Given the description of an element on the screen output the (x, y) to click on. 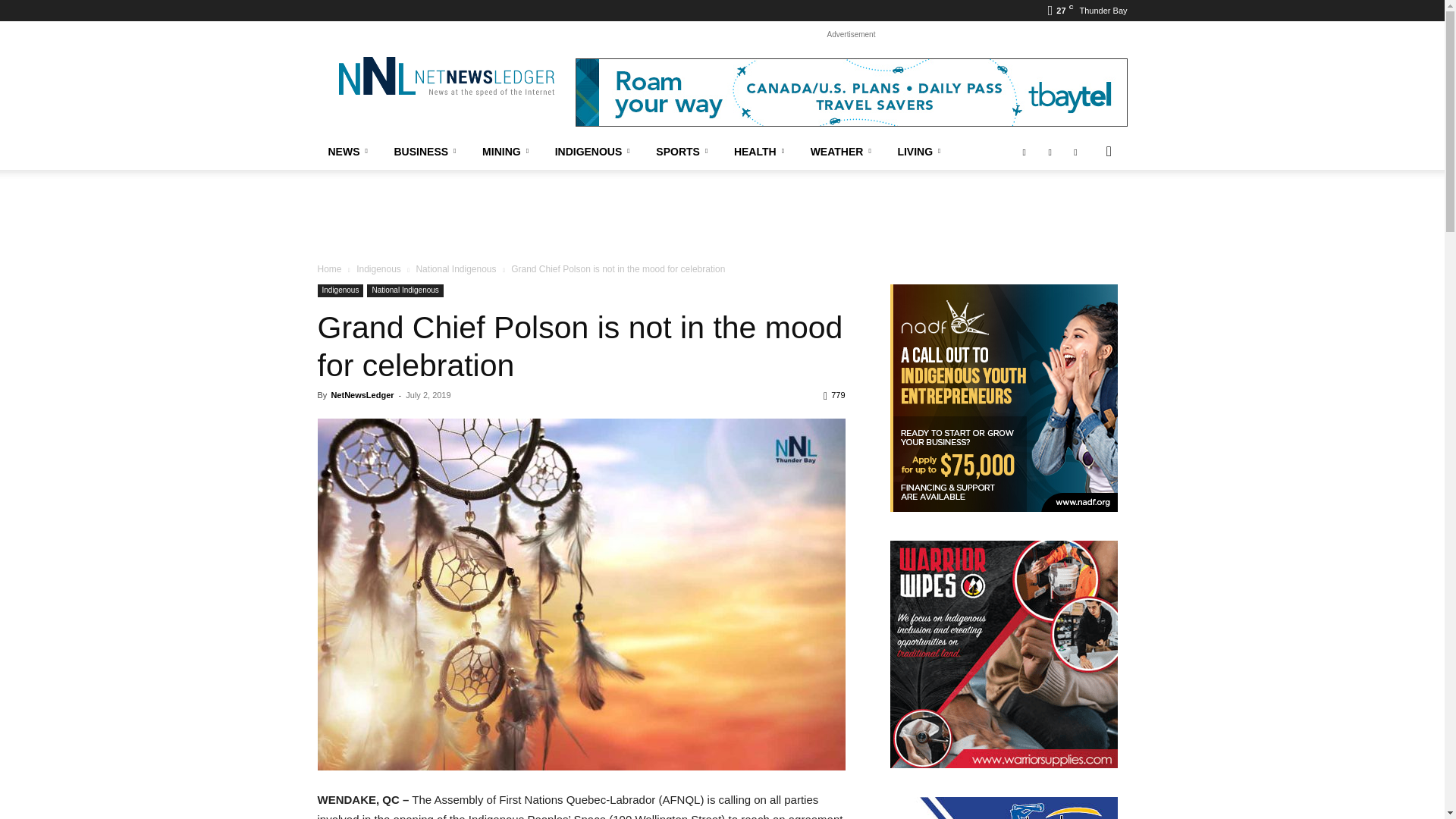
tbaytel (850, 92)
View all posts in National Indigenous (455, 268)
View all posts in Indigenous (378, 268)
NetNewsLedger (445, 76)
